Given the description of an element on the screen output the (x, y) to click on. 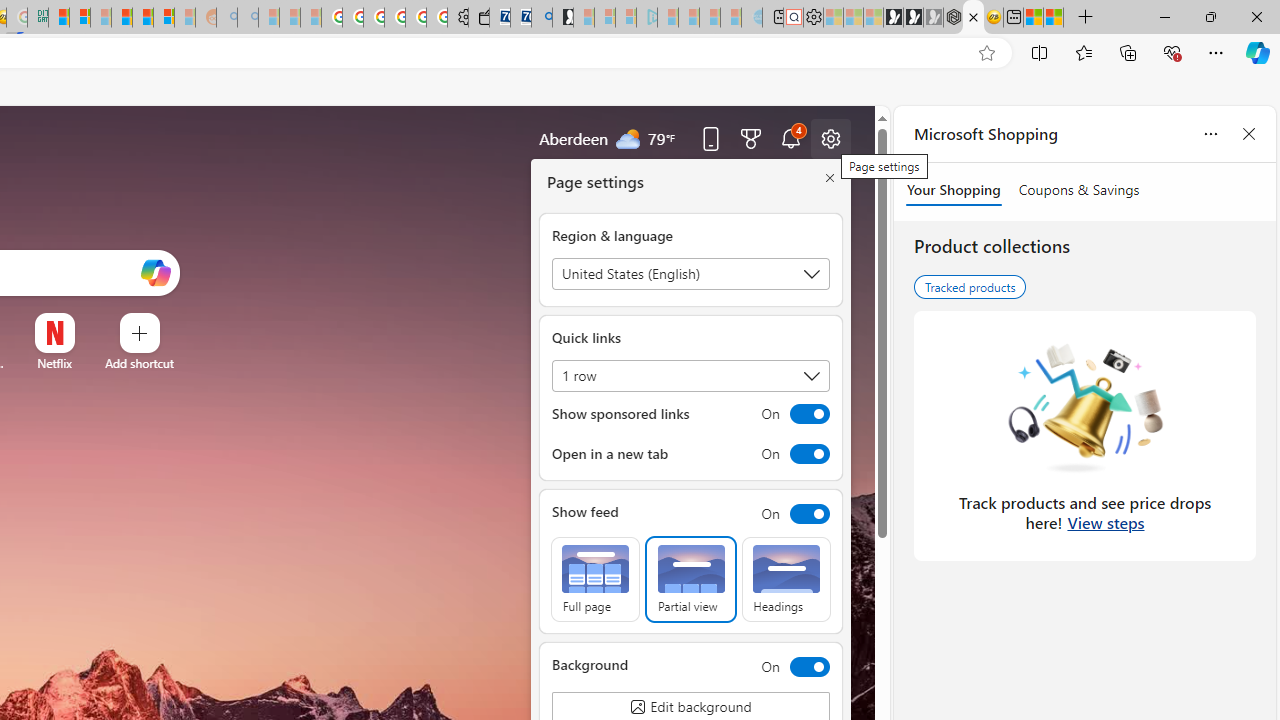
Open in a new tab On (690, 453)
Cheap Car Rentals - Save70.com (520, 17)
